Given the description of an element on the screen output the (x, y) to click on. 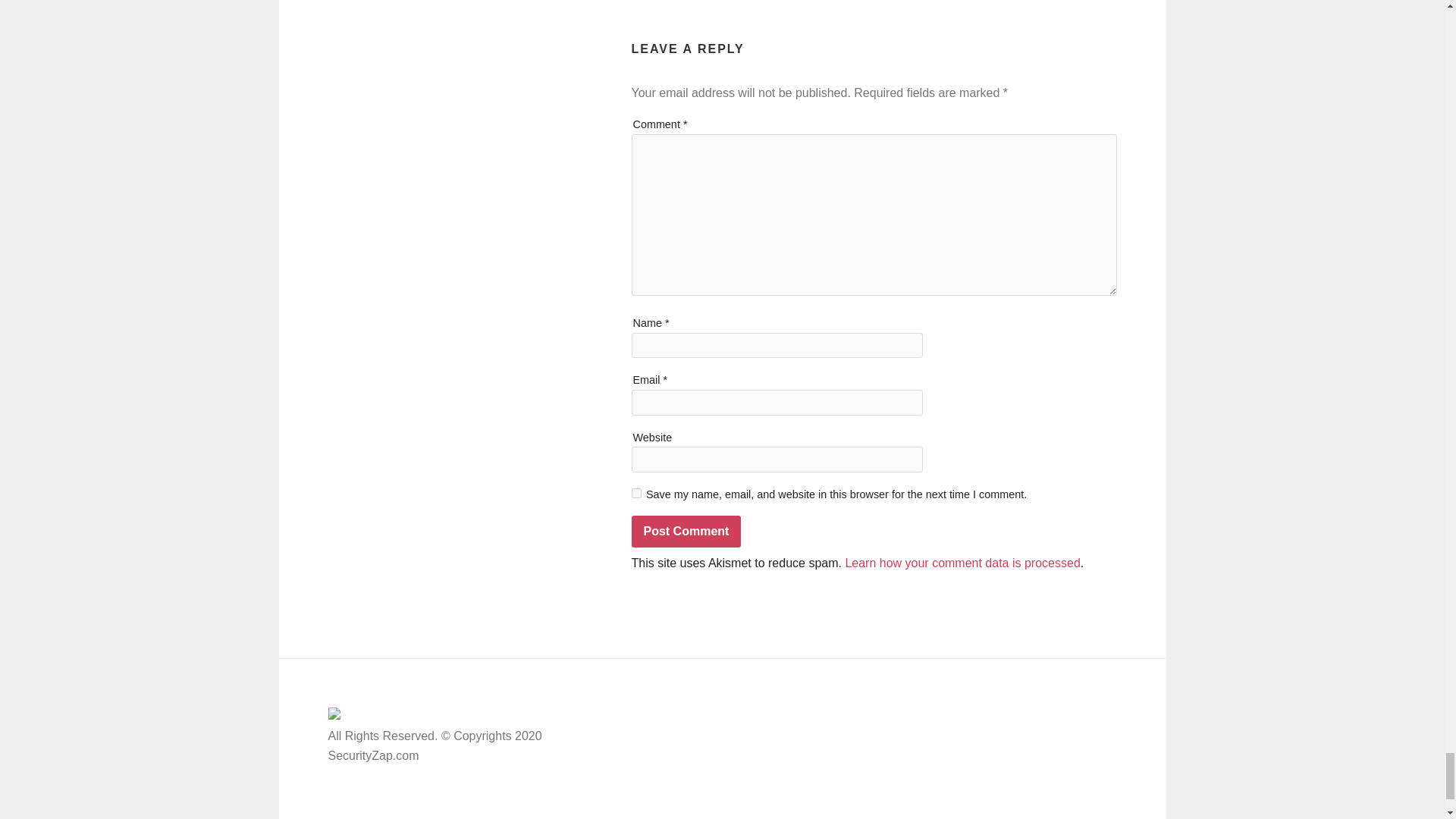
About Us (893, 774)
Sitemap (620, 811)
Post Comment (685, 531)
Privacy Policy and Terms of Service (694, 784)
Learn how your comment data is processed (962, 562)
About Us (622, 757)
Post Comment (685, 531)
yes (635, 492)
Sitemap (891, 720)
Privacy Policy and Terms of Service (965, 747)
